Given the description of an element on the screen output the (x, y) to click on. 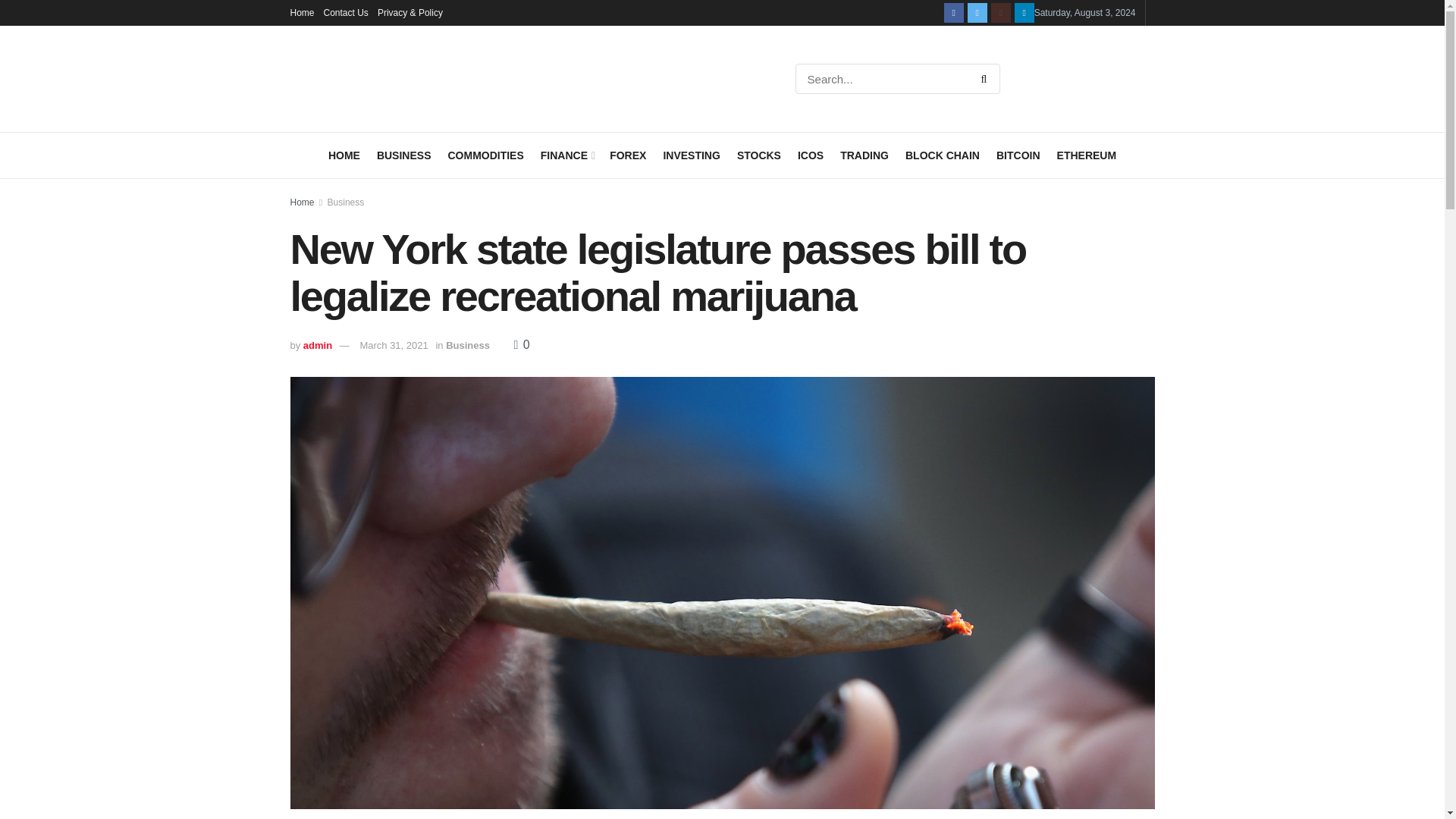
Home (301, 12)
BITCOIN (1018, 155)
Contact Us (345, 12)
INVESTING (690, 155)
TRADING (864, 155)
BLOCK CHAIN (942, 155)
STOCKS (758, 155)
COMMODITIES (484, 155)
FINANCE (566, 155)
BUSINESS (403, 155)
